Given the description of an element on the screen output the (x, y) to click on. 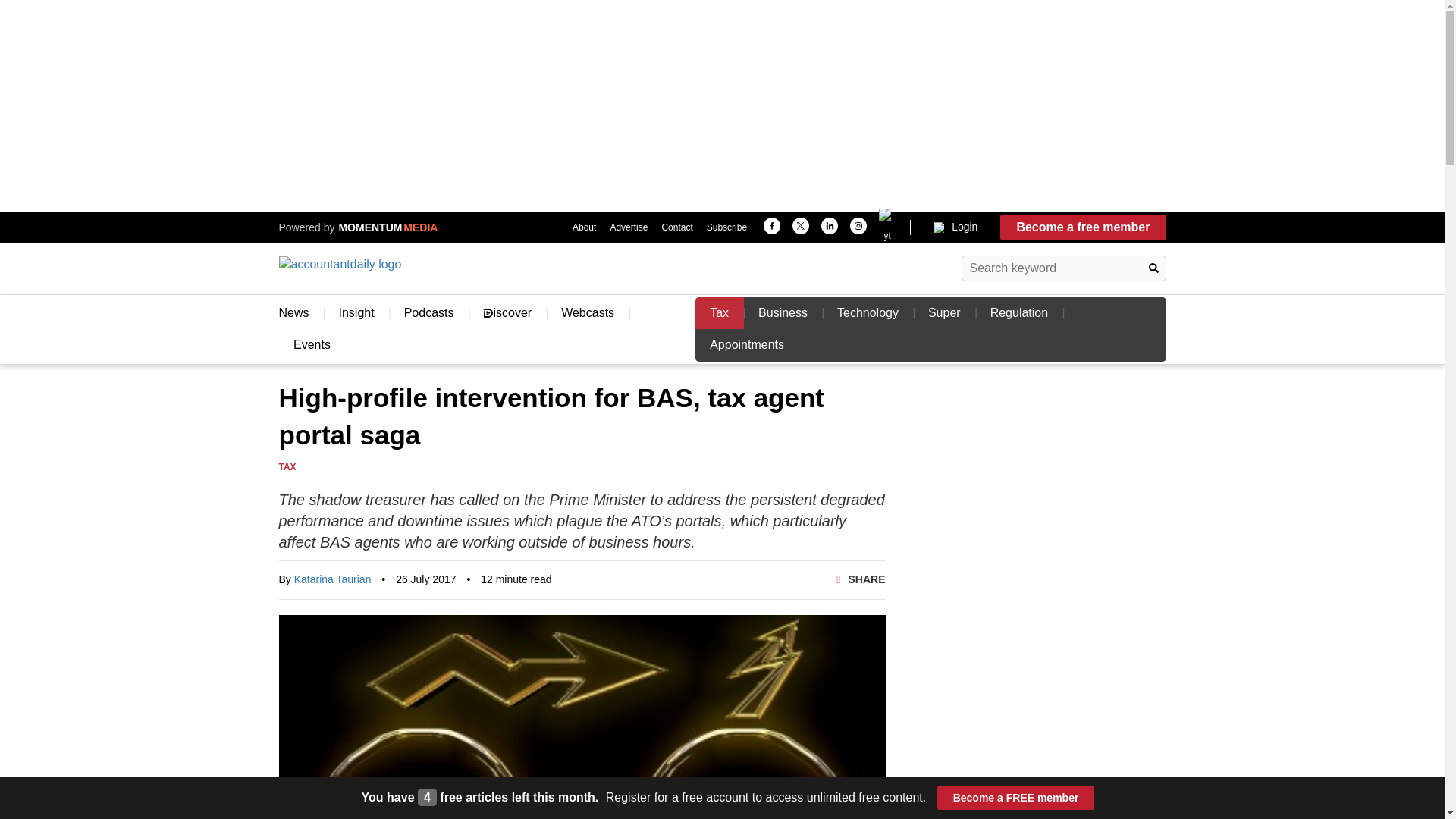
View all articles from Katarina Taurian (332, 579)
Become a free member (1083, 227)
Become a FREE member (1015, 797)
Become a FREE member (1015, 797)
MOMENTUM MEDIA (386, 227)
